Given the description of an element on the screen output the (x, y) to click on. 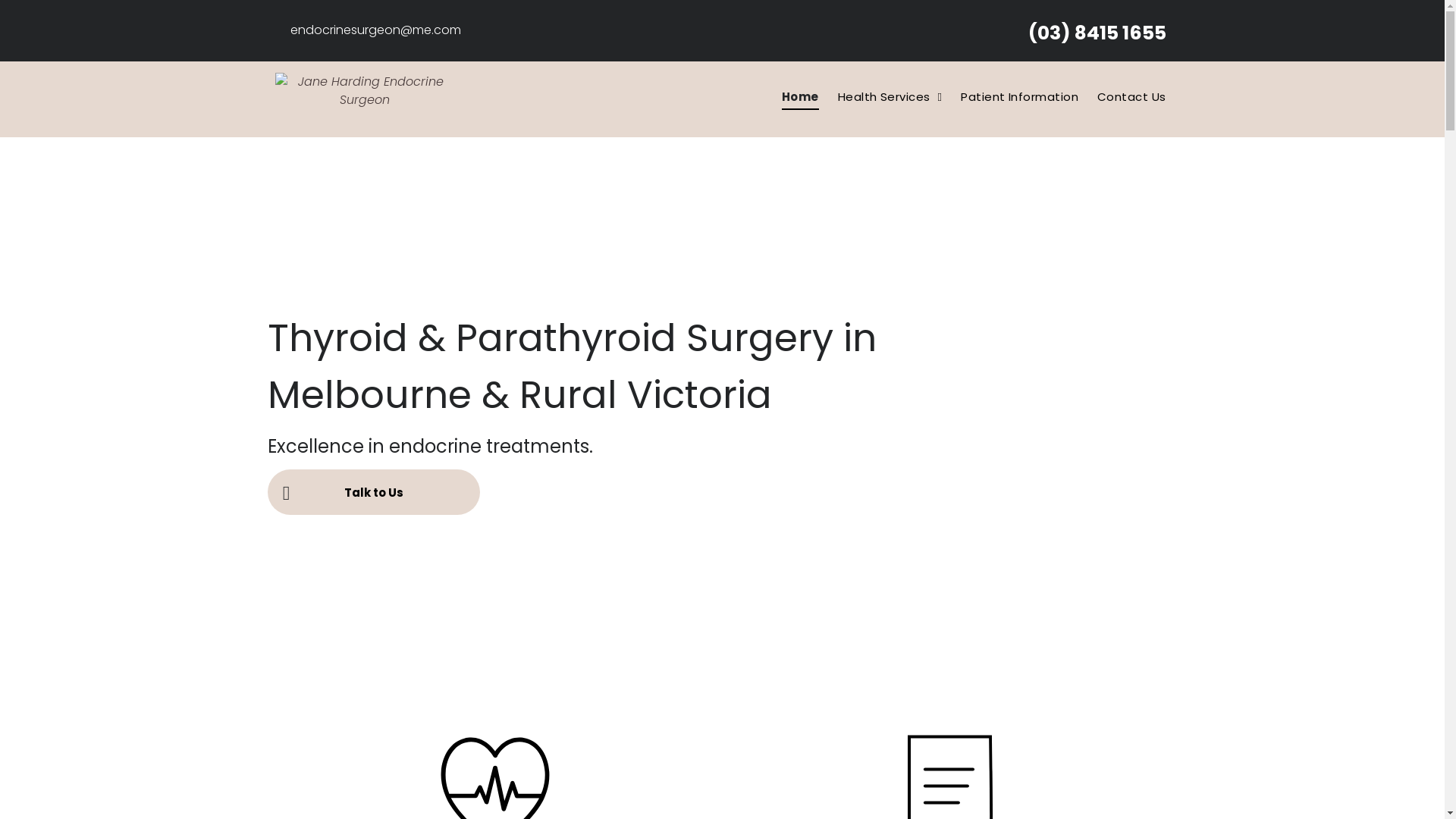
(03) 8415 1655 Element type: text (1097, 32)
Jane Harding Endocrine Surgeon Element type: hover (364, 98)
Patient Information Element type: text (1009, 96)
Contact Us Element type: text (1122, 96)
Home Element type: text (790, 96)
endocrinesurgeon@me.com Element type: text (374, 29)
Talk to Us Element type: text (372, 491)
Health Services Element type: text (880, 96)
